Given the description of an element on the screen output the (x, y) to click on. 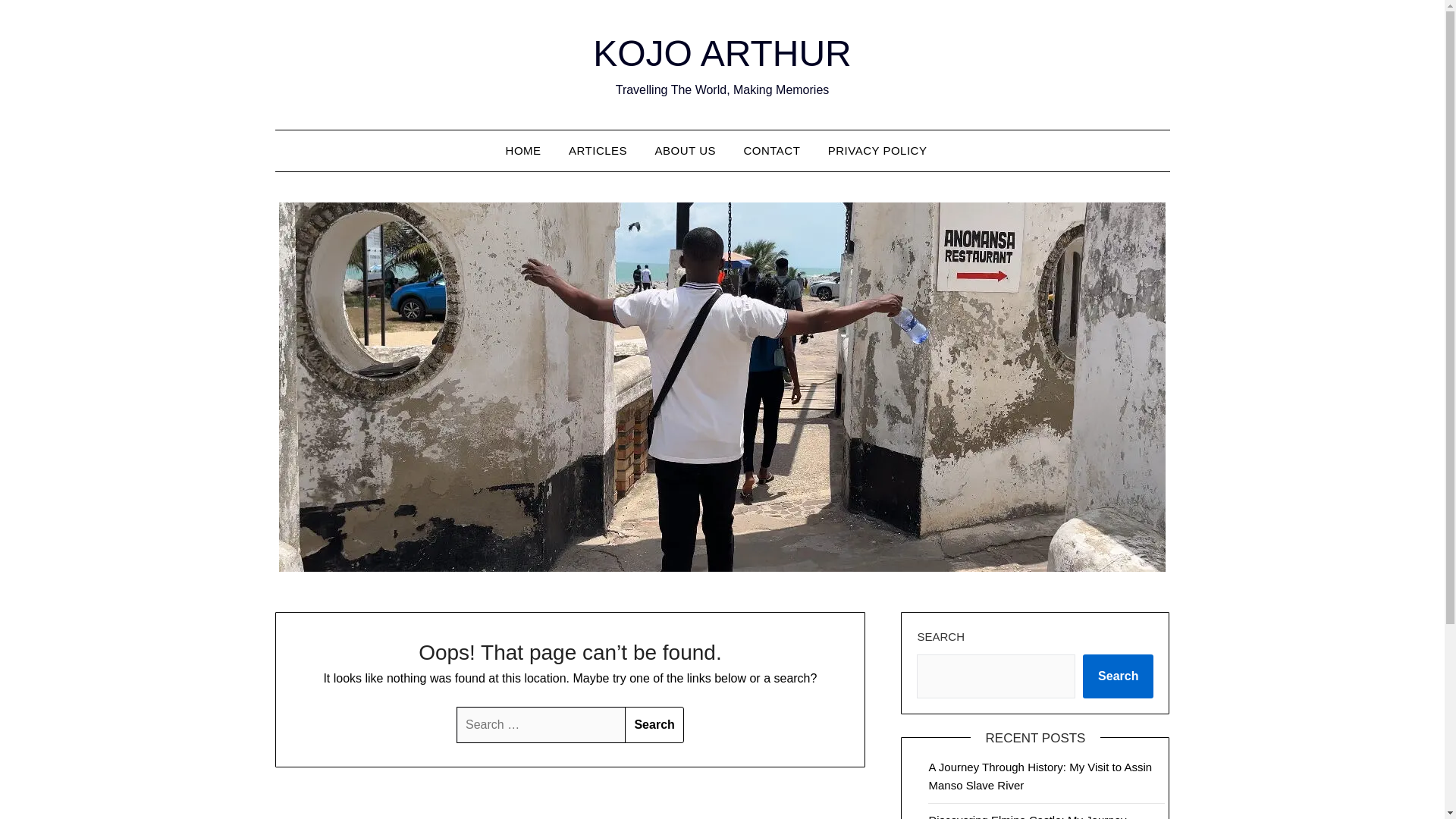
Search (653, 724)
HOME (529, 150)
PRIVACY POLICY (877, 150)
CONTACT (771, 150)
Search (653, 724)
ABOUT US (685, 150)
KOJO ARTHUR (721, 53)
Search (1118, 676)
Search (653, 724)
ARTICLES (597, 150)
